Given the description of an element on the screen output the (x, y) to click on. 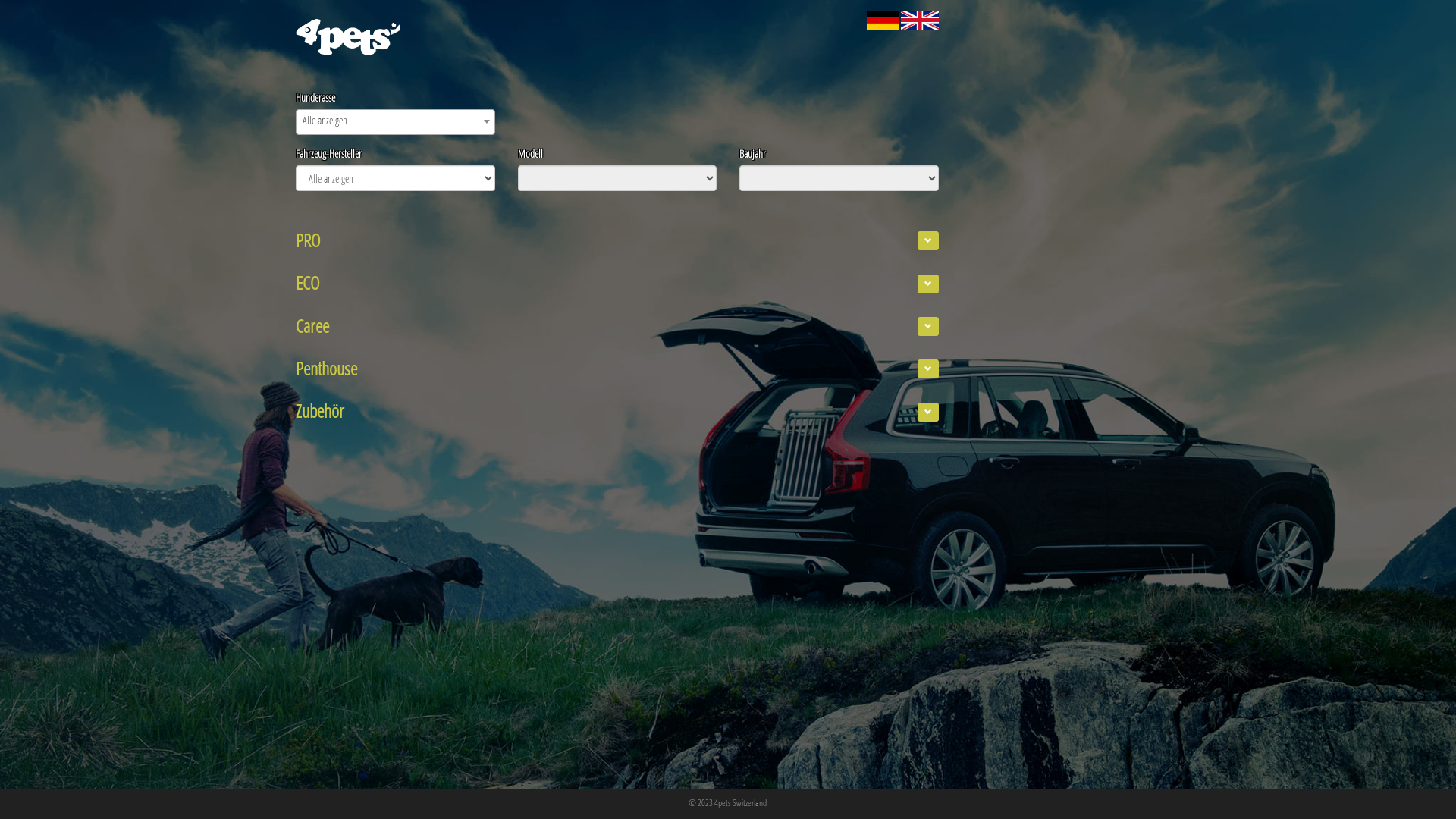
4pets Switzerland Element type: text (740, 802)
